Given the description of an element on the screen output the (x, y) to click on. 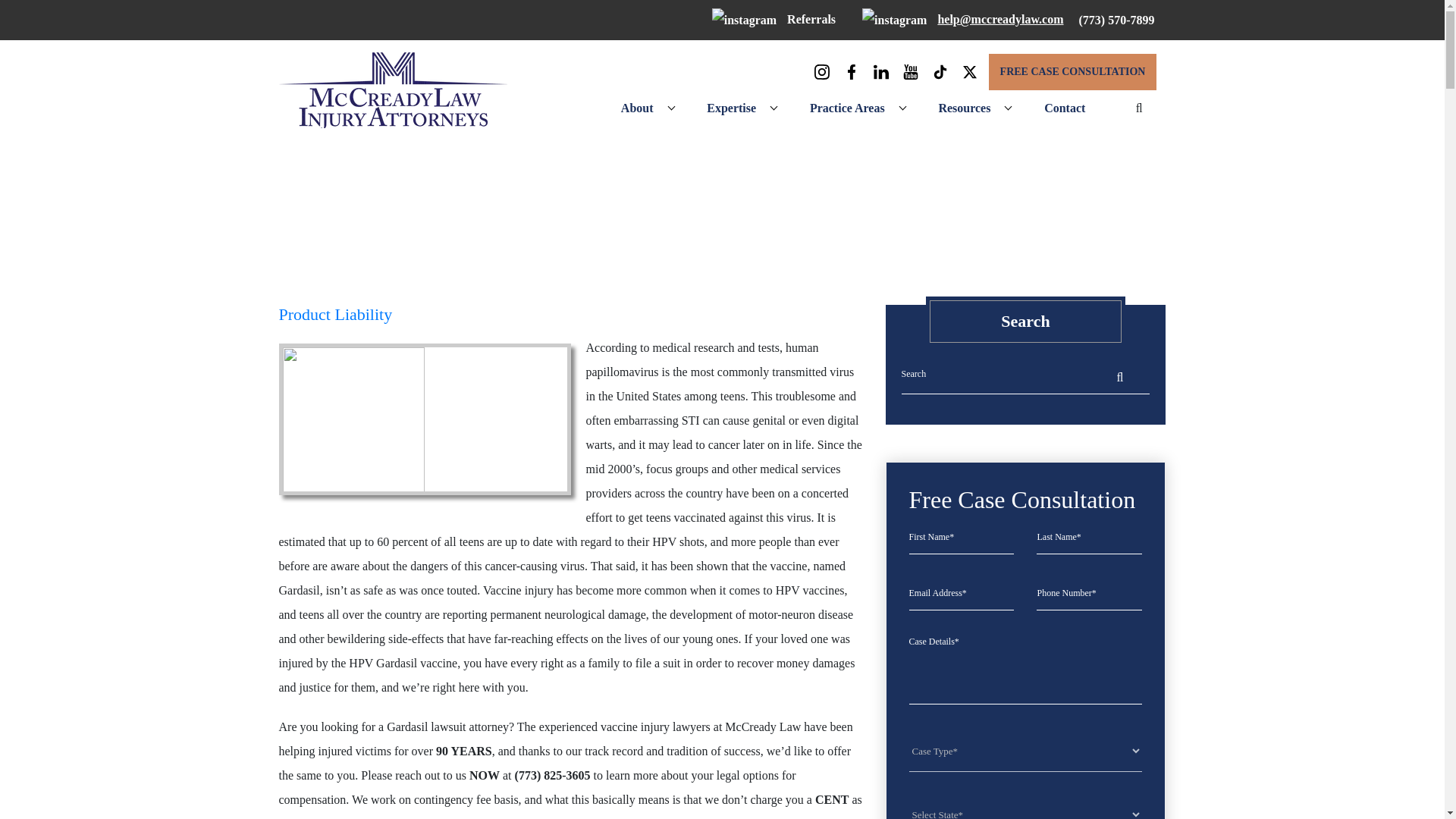
McCready Law (392, 89)
Expertise (731, 108)
About (636, 108)
Legal Services Offered (846, 108)
About McCready Law (636, 108)
Practice Areas (846, 108)
Referrals (773, 19)
FREE CASE CONSULTATION (1072, 72)
Contact McCready Law (1064, 108)
